Given the description of an element on the screen output the (x, y) to click on. 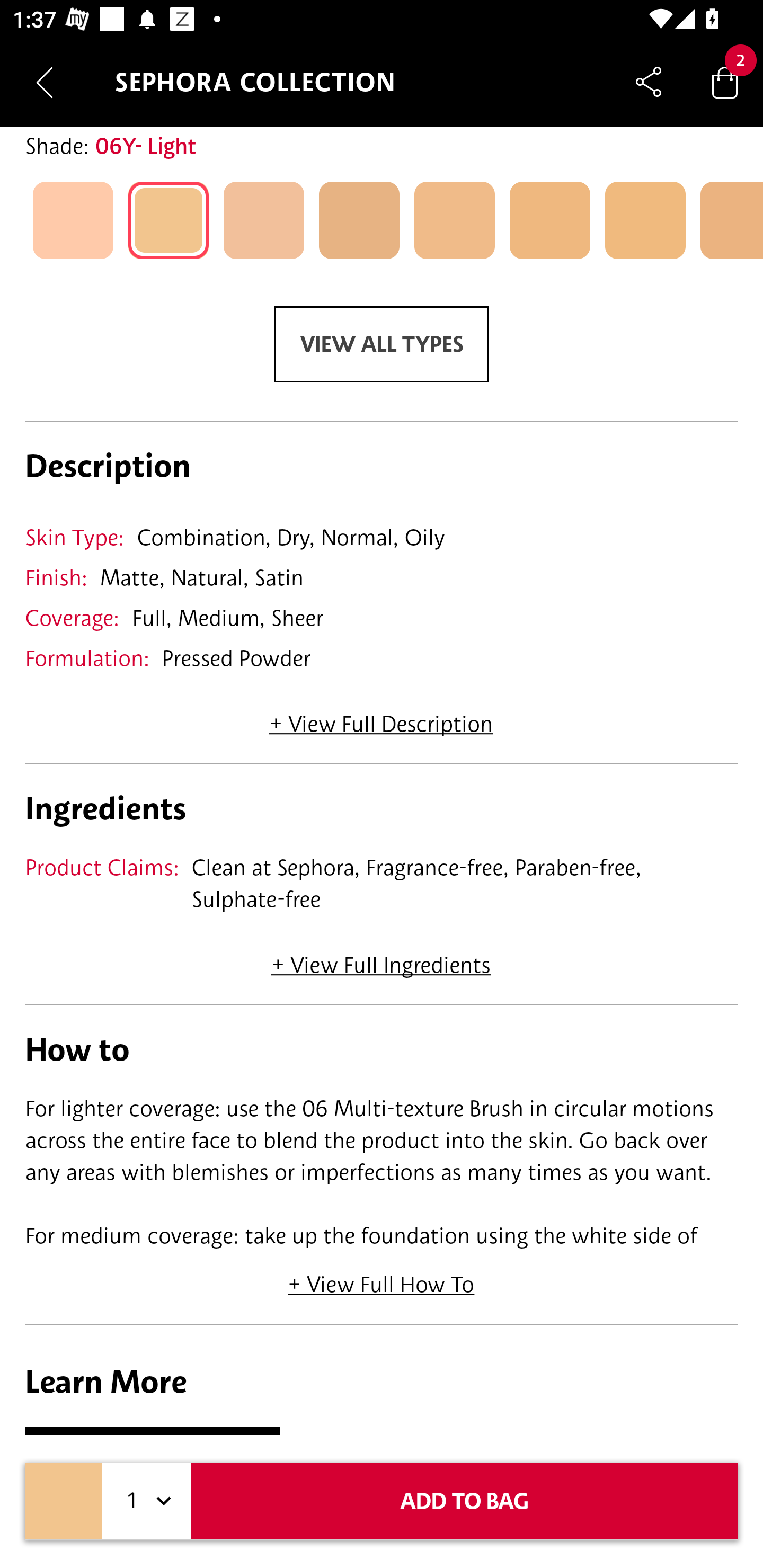
Navigate up (44, 82)
Share (648, 81)
Bag (724, 81)
VIEW ALL TYPES (381, 343)
+ View Full Description (380, 717)
+ View Full Ingredients (380, 958)
+ View Full How To (381, 1277)
1 (145, 1500)
ADD TO BAG (463, 1500)
